Given the description of an element on the screen output the (x, y) to click on. 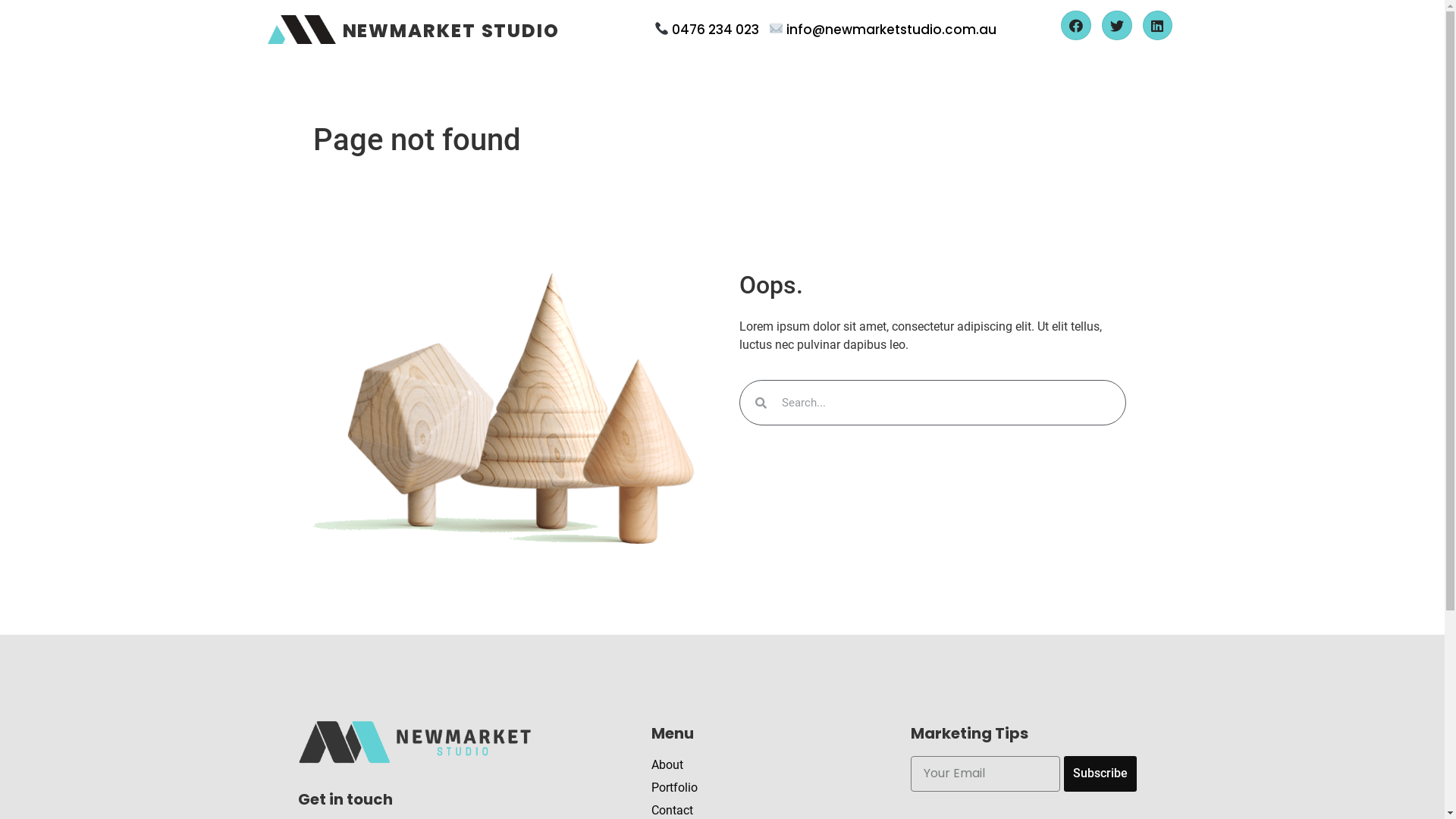
NEWMARKET STUDIO Element type: text (450, 30)
Subscribe Element type: text (1099, 773)
0476 234 023 Element type: text (713, 29)
Portfolio Element type: text (764, 787)
Search Element type: hover (945, 402)
info@newmarketstudio.com.au Element type: text (891, 29)
